Given the description of an element on the screen output the (x, y) to click on. 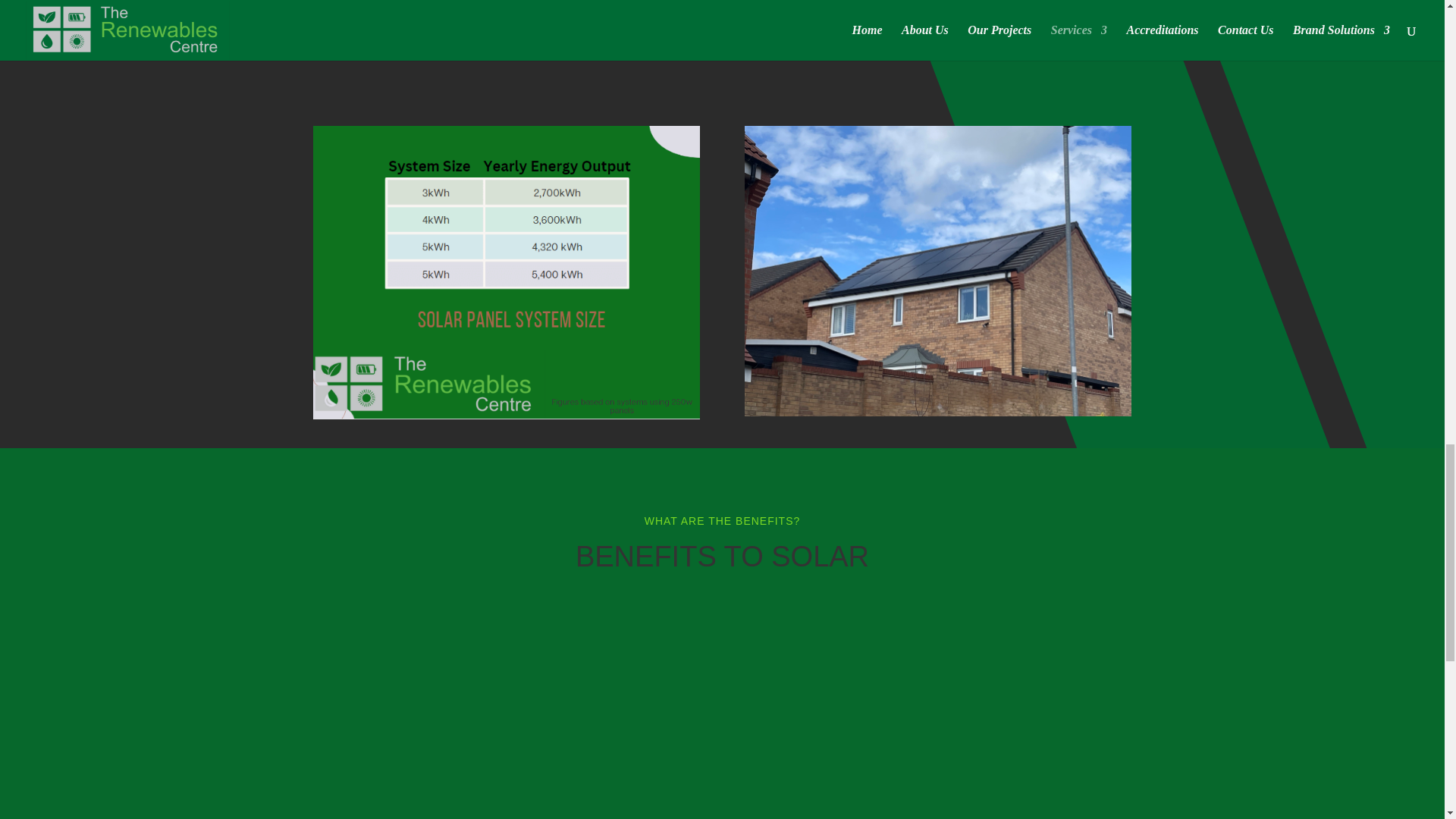
Screenshot 2024-01-13 234452 (505, 272)
